Given the description of an element on the screen output the (x, y) to click on. 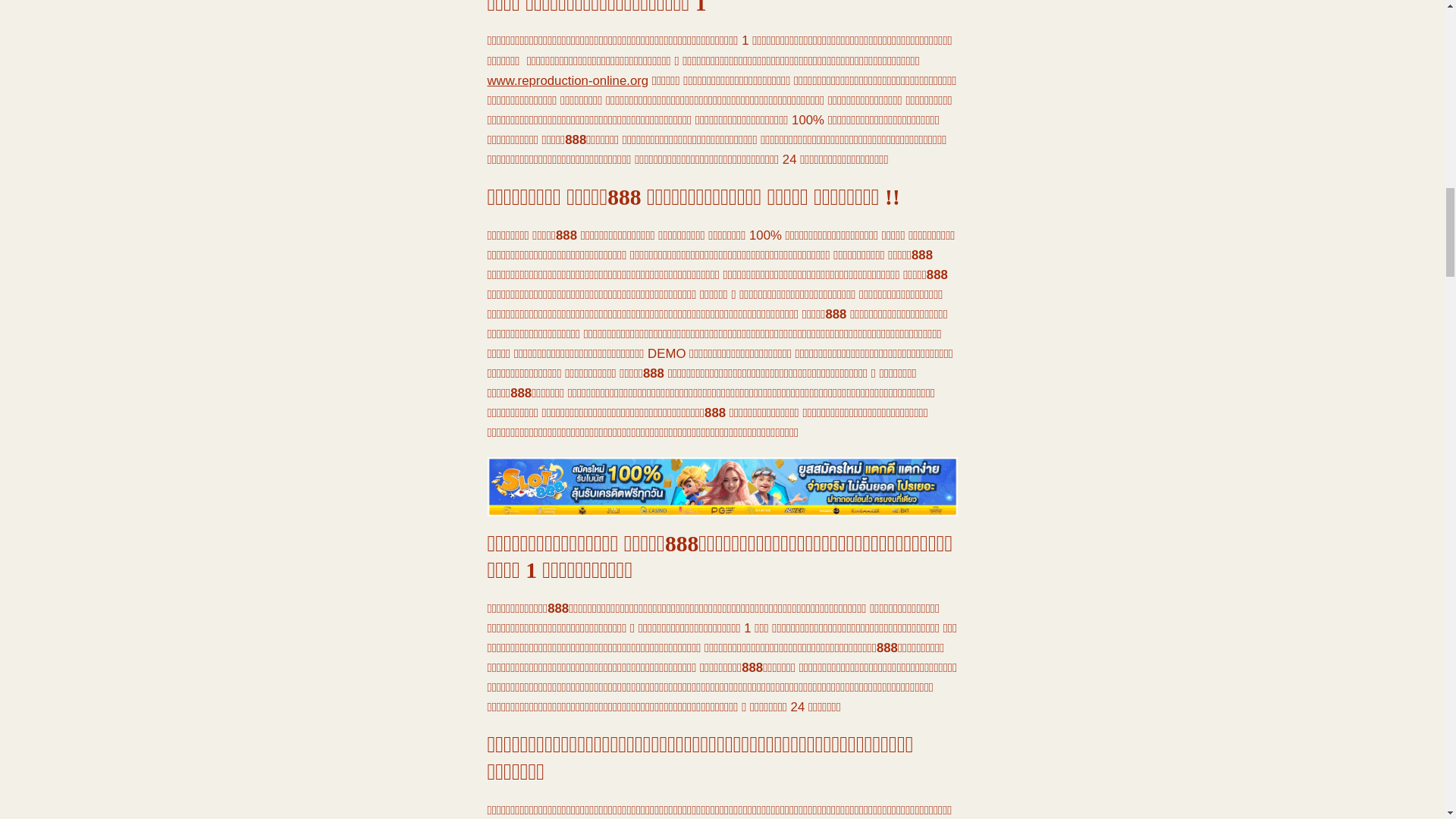
www.reproduction-online.org (566, 80)
